Given the description of an element on the screen output the (x, y) to click on. 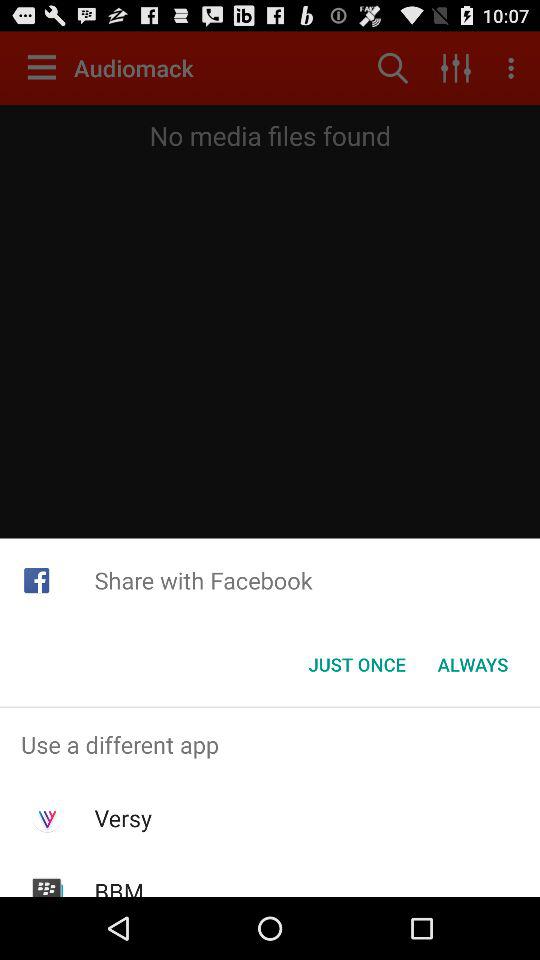
flip until the always icon (472, 664)
